Given the description of an element on the screen output the (x, y) to click on. 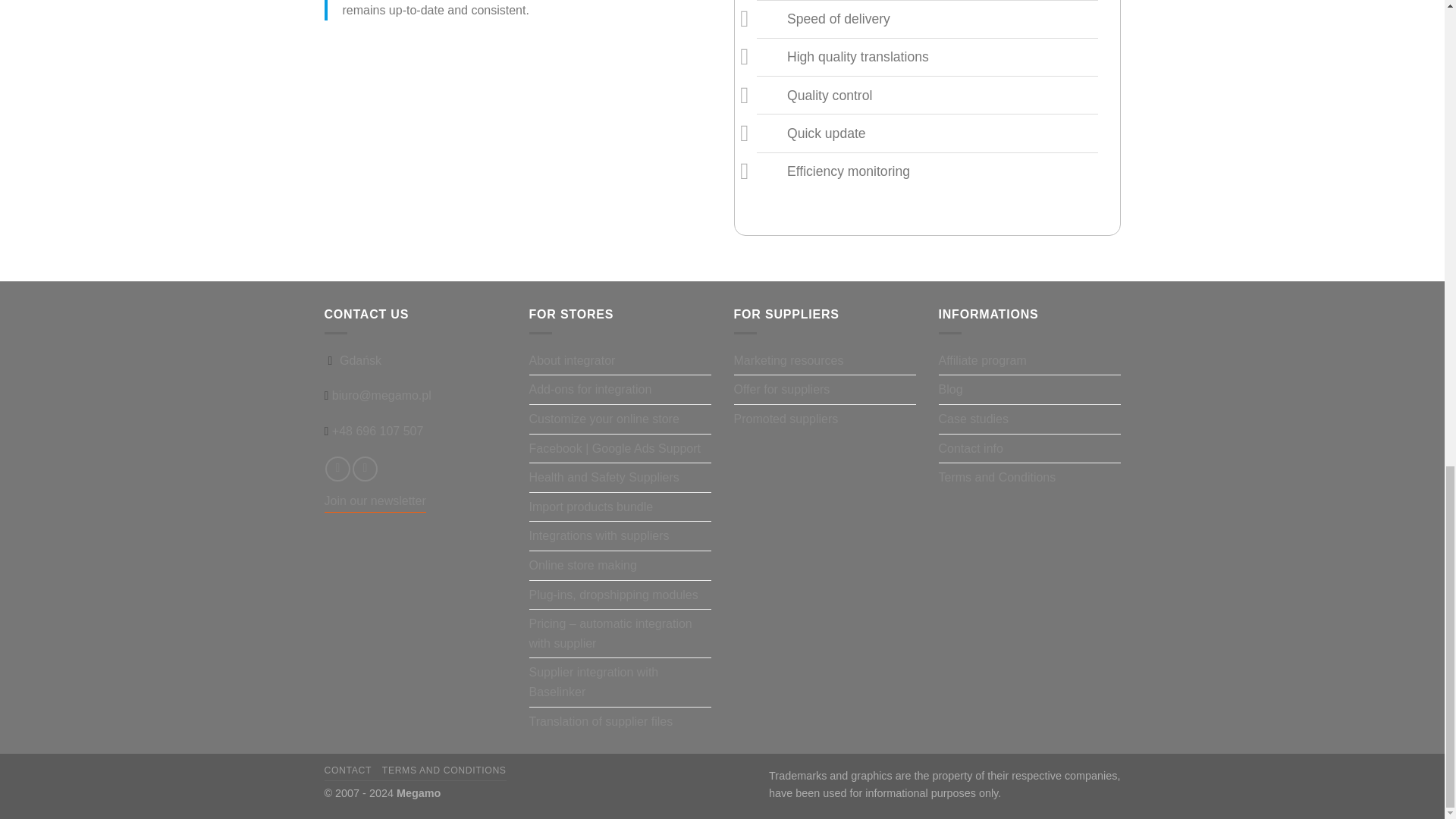
Follow on YouTube (364, 468)
Follow on Facebook (337, 468)
